Given the description of an element on the screen output the (x, y) to click on. 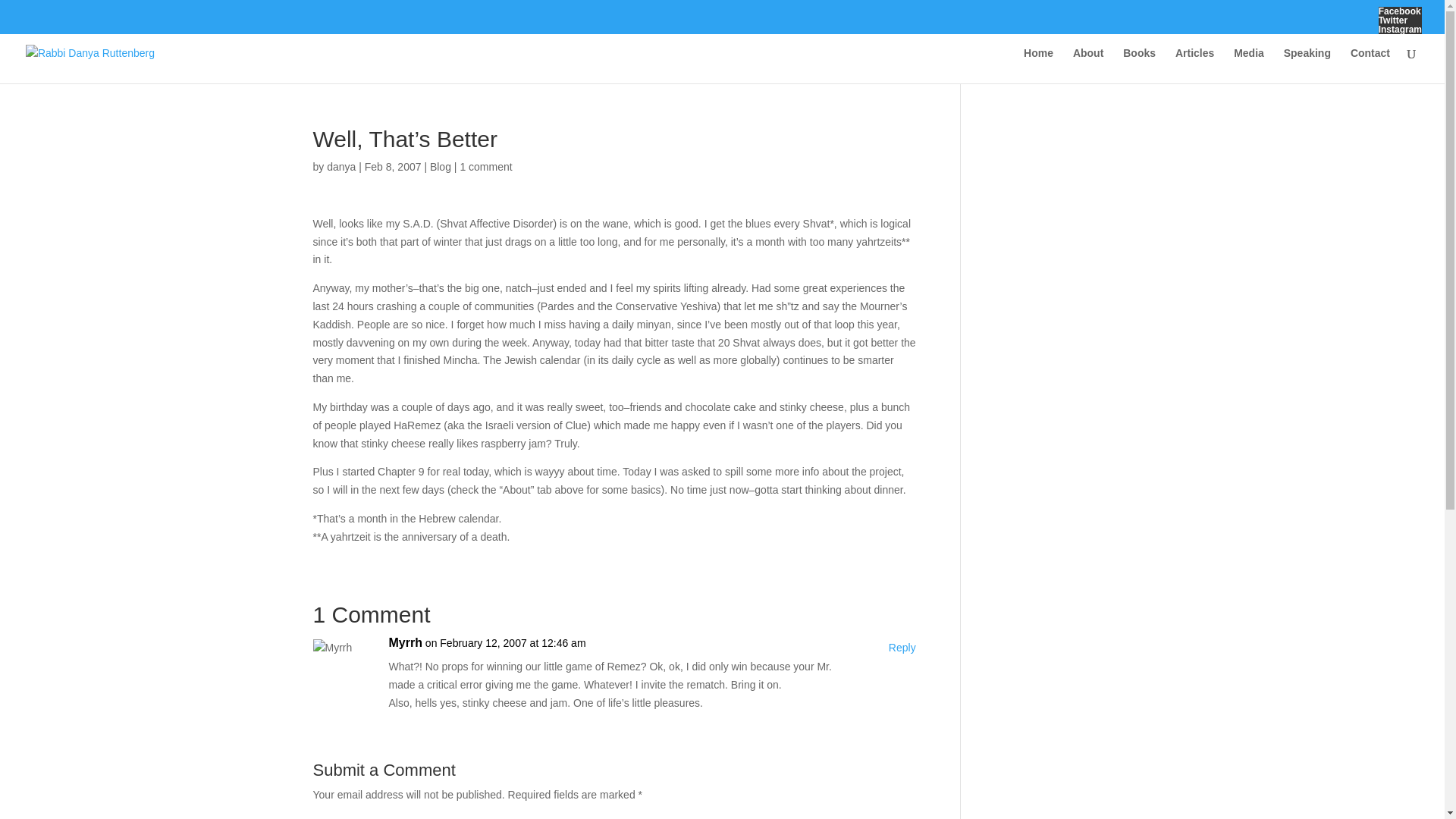
danya (340, 166)
Facebook (1400, 10)
Instagram (1400, 29)
1 comment (486, 166)
Twitter (1400, 20)
Speaking (1307, 65)
Blog (440, 166)
Articles (1194, 65)
Posts by danya (340, 166)
Contact (1370, 65)
Books (1139, 65)
Reply (901, 648)
Myrrh (405, 642)
